Given the description of an element on the screen output the (x, y) to click on. 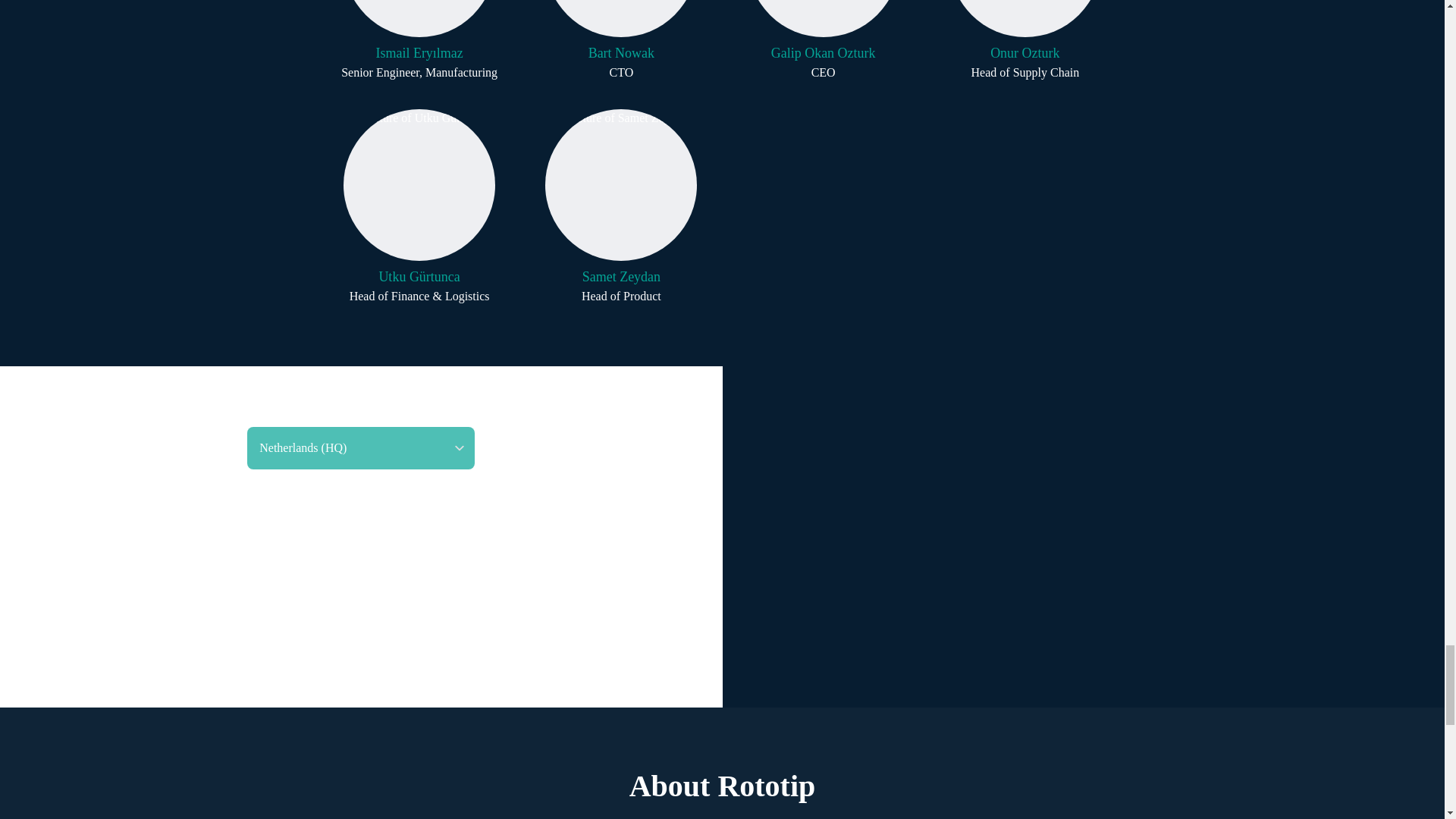
Select location (620, 206)
